Given the description of an element on the screen output the (x, y) to click on. 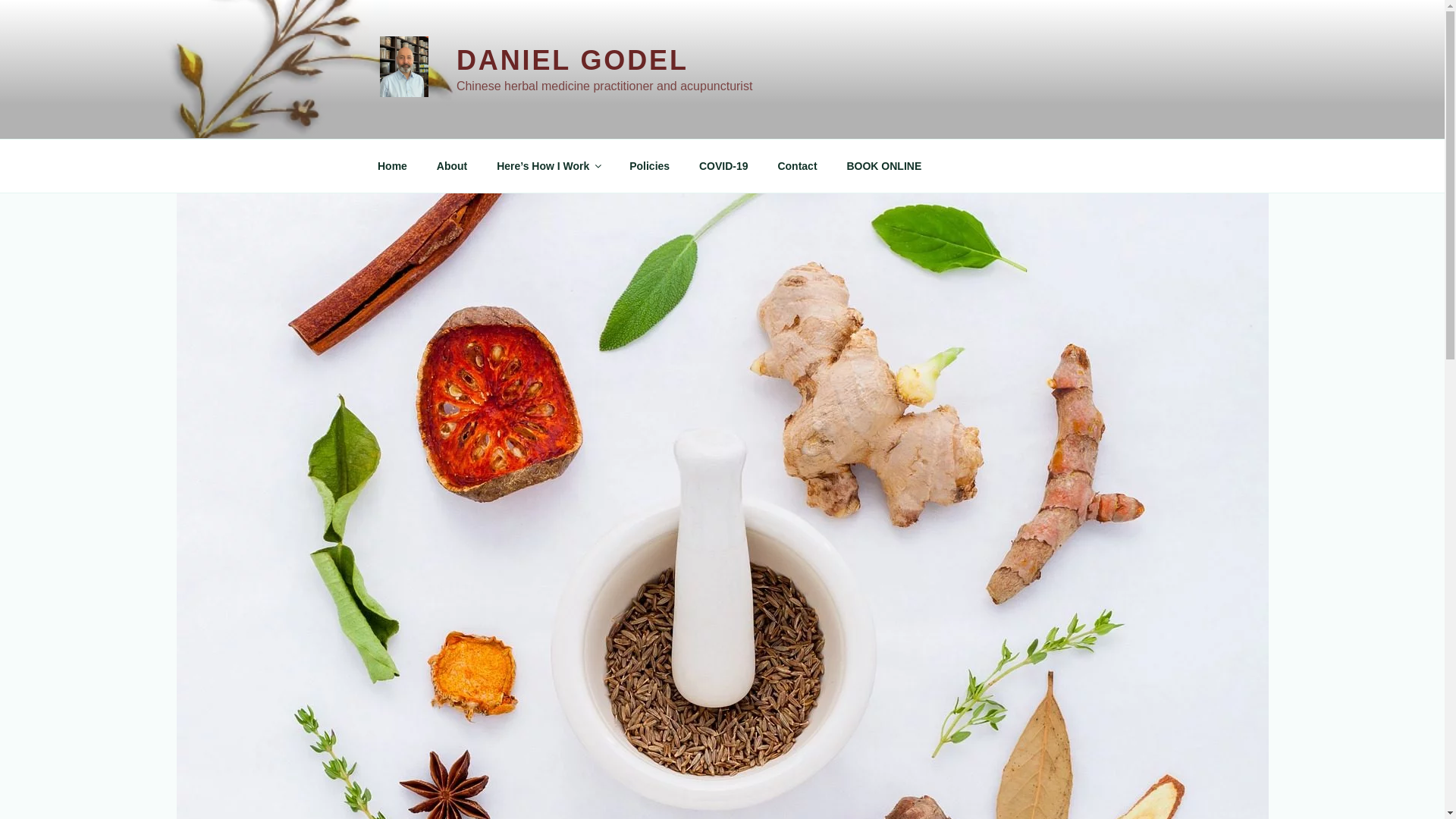
DANIEL GODEL Element type: text (572, 59)
Policies Element type: text (649, 165)
COVID-19 Element type: text (723, 165)
Home Element type: text (392, 165)
About Element type: text (451, 165)
BOOK ONLINE Element type: text (884, 165)
Contact Element type: text (797, 165)
